Given the description of an element on the screen output the (x, y) to click on. 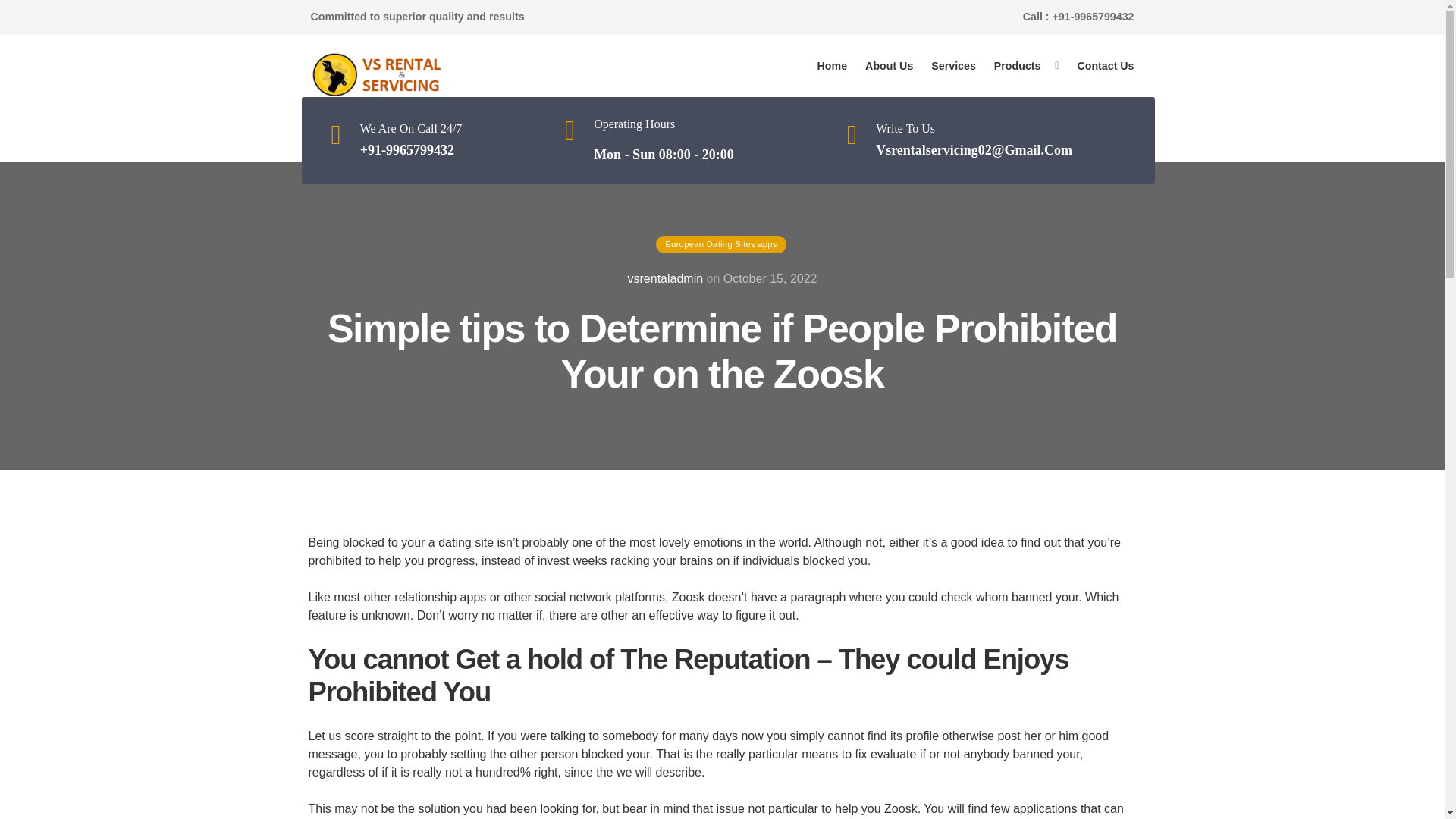
Services (953, 66)
Contact Us (1104, 66)
Home (832, 66)
vsrentaladmin (665, 278)
Products (1017, 66)
European Dating Sites apps (721, 244)
Visit Author Posts (665, 278)
About Us (888, 66)
